Given the description of an element on the screen output the (x, y) to click on. 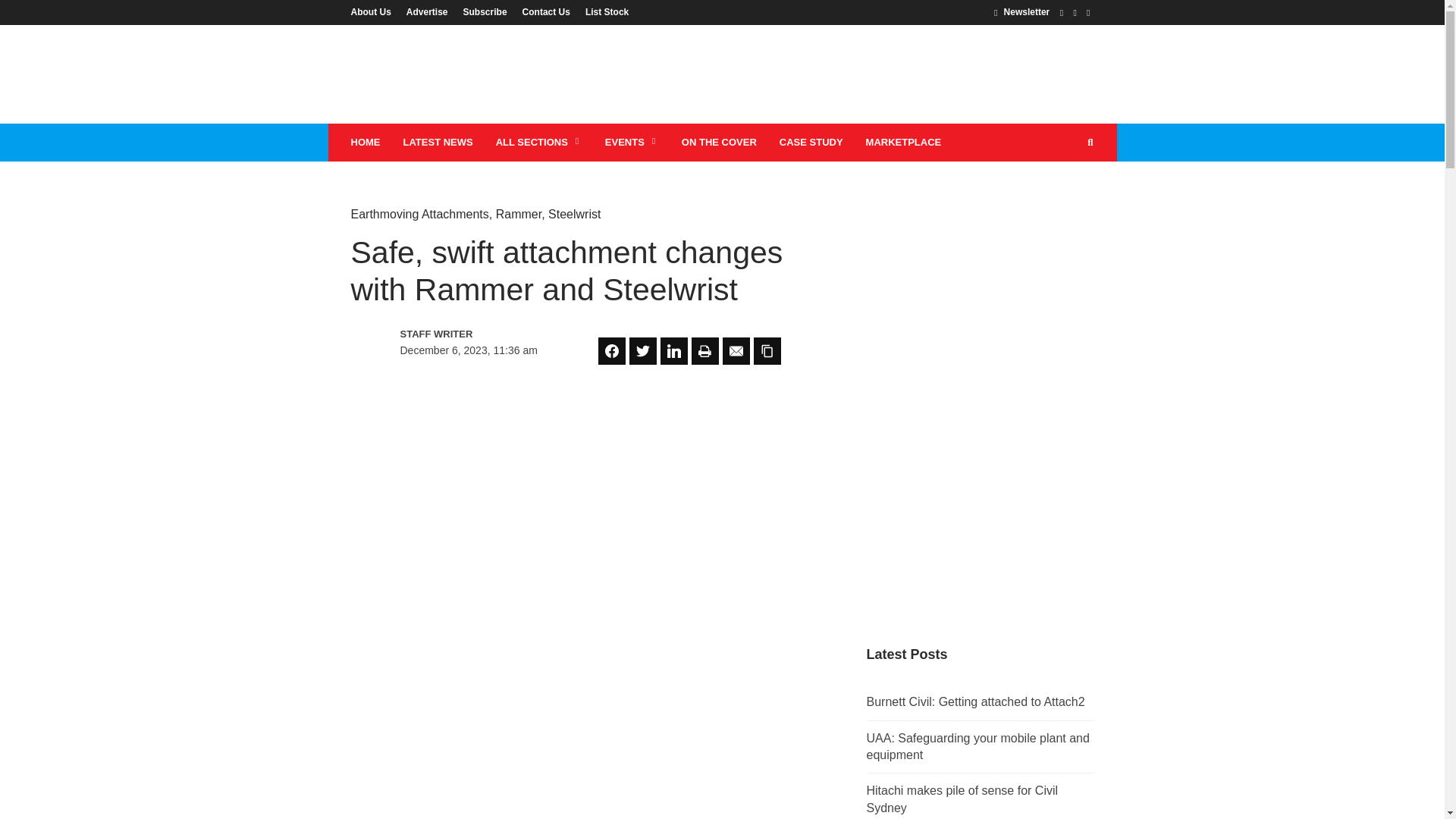
Advertise (426, 11)
List Stock (603, 11)
ALL SECTIONS (539, 142)
Share on Facebook (612, 350)
Newsletter (1021, 11)
Subscribe (485, 11)
Share on Twitter (642, 350)
HOME (365, 142)
About Us (373, 11)
Share on Print (705, 350)
